Given the description of an element on the screen output the (x, y) to click on. 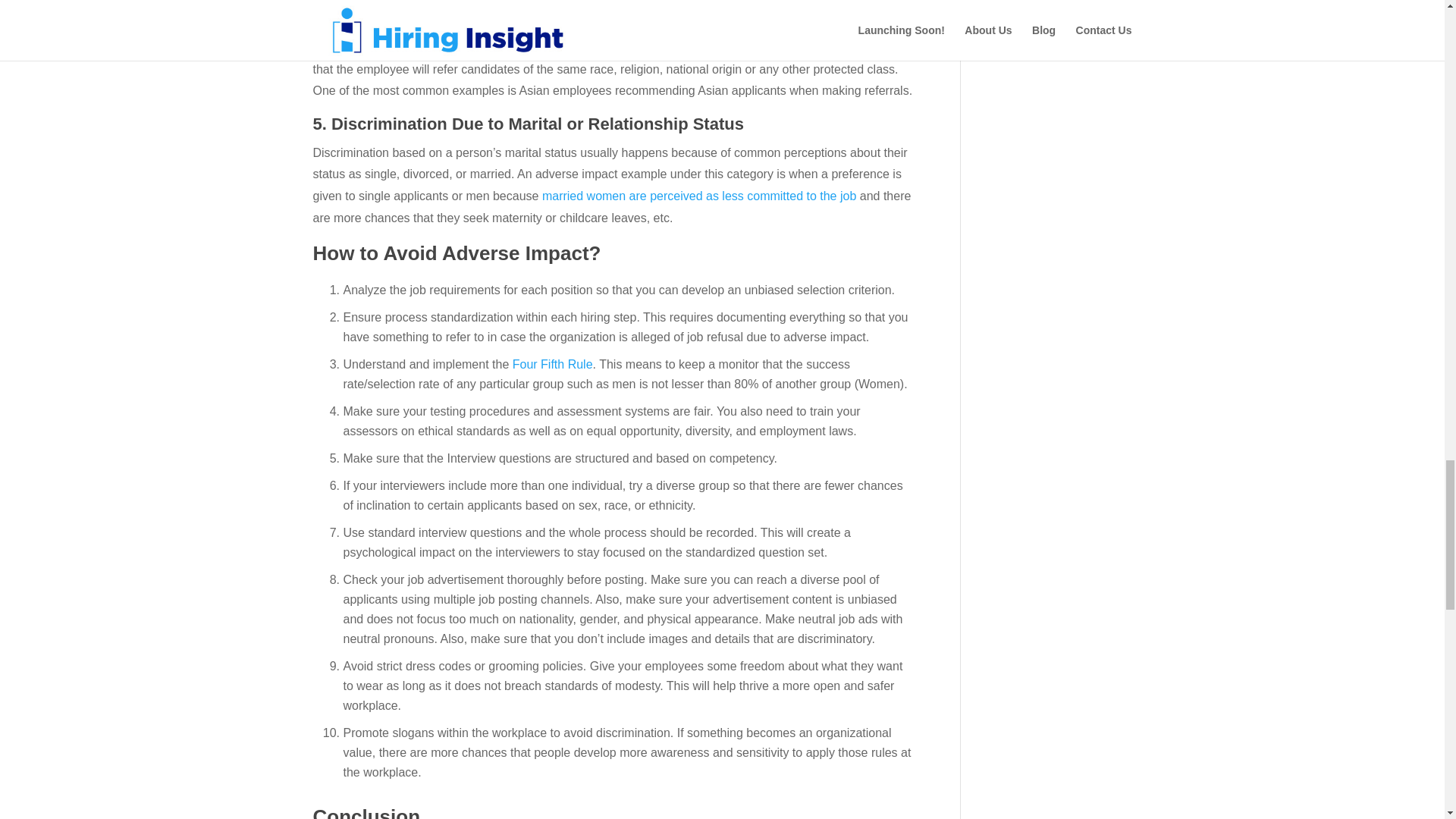
Four Fifth Rule (552, 364)
married women are perceived as less committed to the job (698, 195)
